Given the description of an element on the screen output the (x, y) to click on. 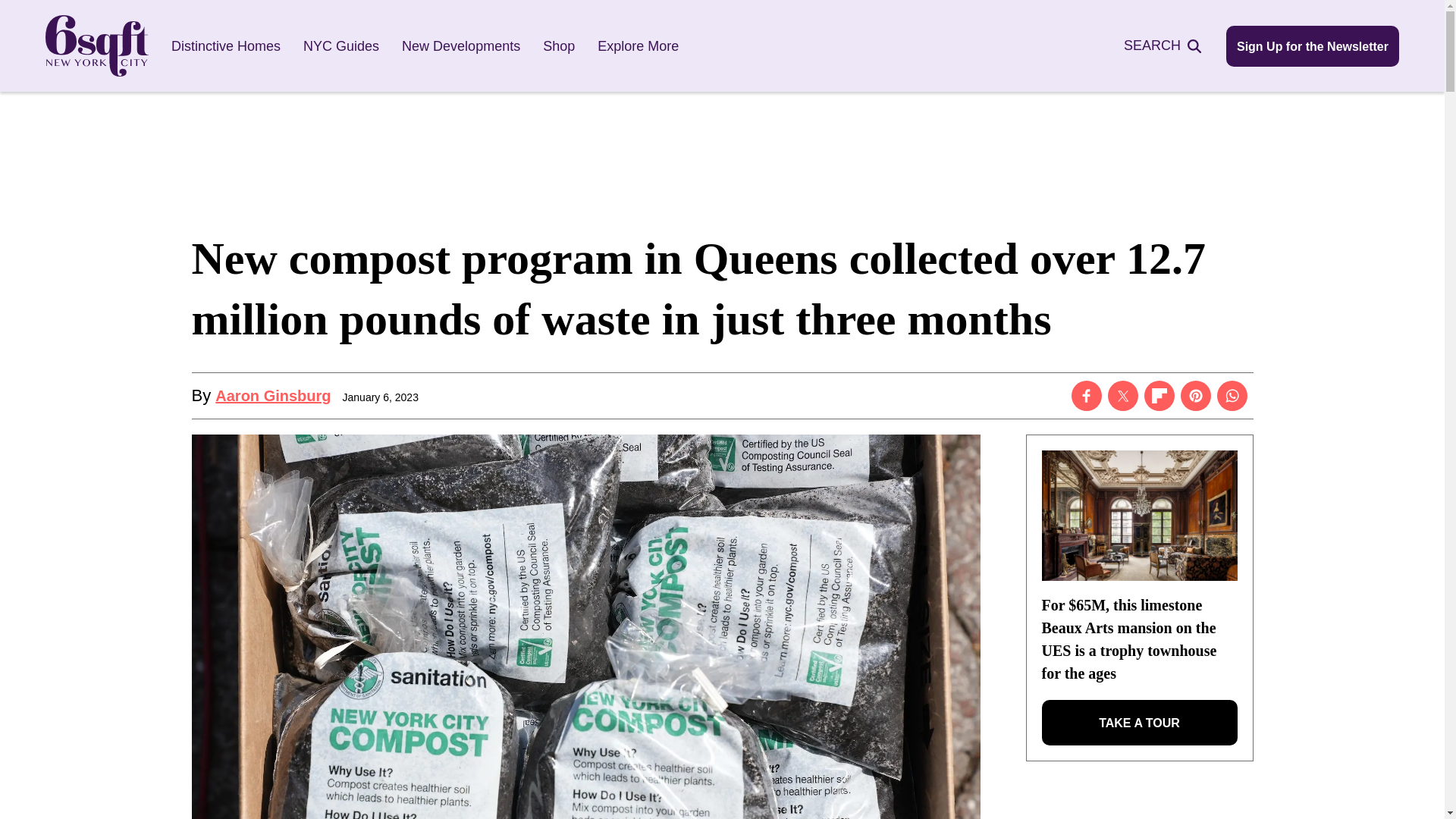
Aaron Ginsburg (272, 395)
Posts by Aaron Ginsburg (272, 395)
New Developments (460, 46)
SEARCH (1171, 45)
Explore More (637, 46)
Sign Up for the Newsletter (1312, 45)
Shop (559, 46)
NYC Guides (340, 46)
Distinctive Homes (226, 46)
